Given the description of an element on the screen output the (x, y) to click on. 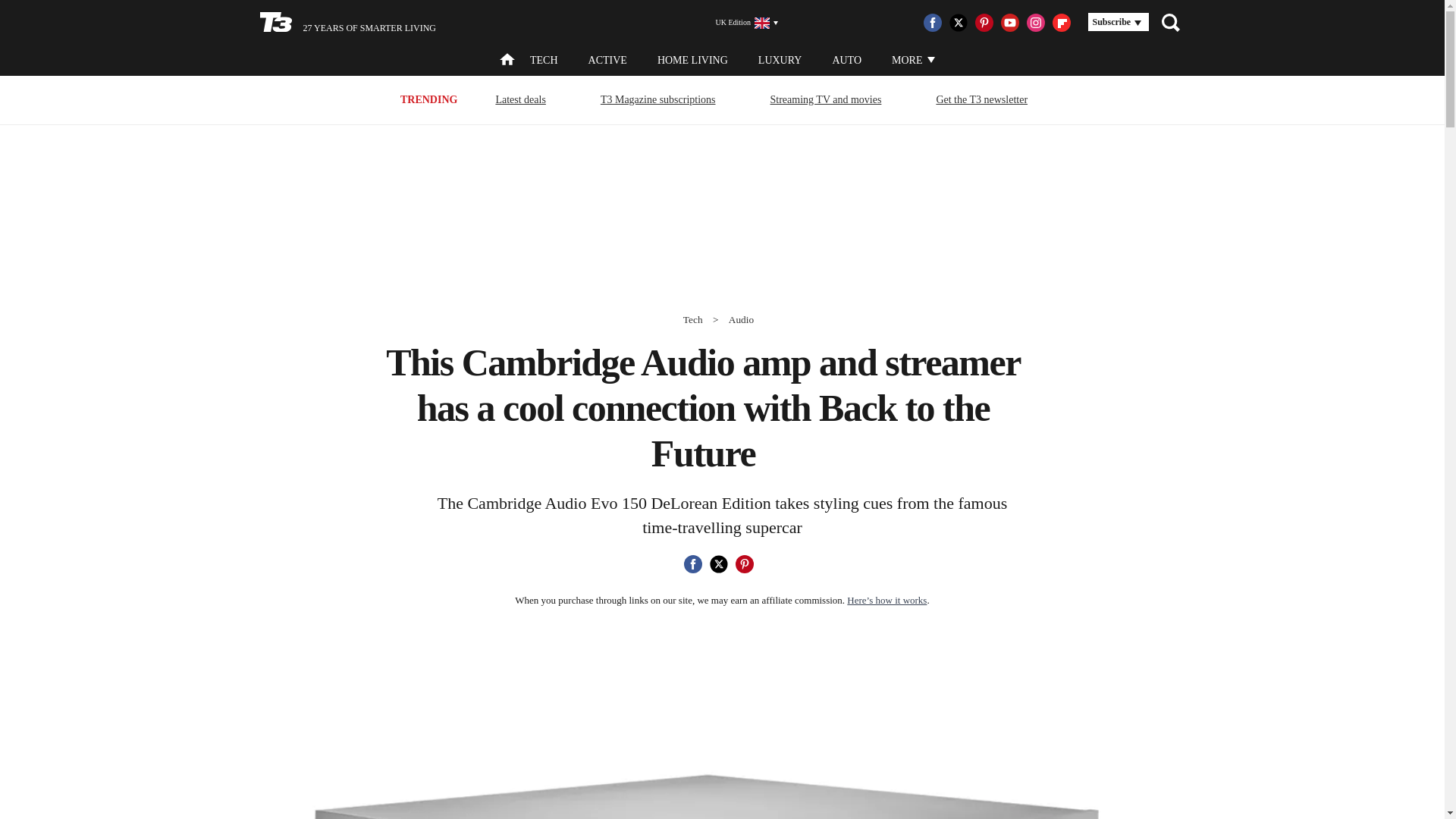
UK Edition (740, 22)
Streaming TV and movies (825, 99)
27 YEARS OF SMARTER LIVING (347, 23)
TECH (543, 60)
Latest deals (519, 99)
AUTO (846, 60)
ACTIVE (607, 60)
LUXURY (780, 60)
HOME LIVING (693, 60)
T3 Magazine subscriptions (657, 99)
